Given the description of an element on the screen output the (x, y) to click on. 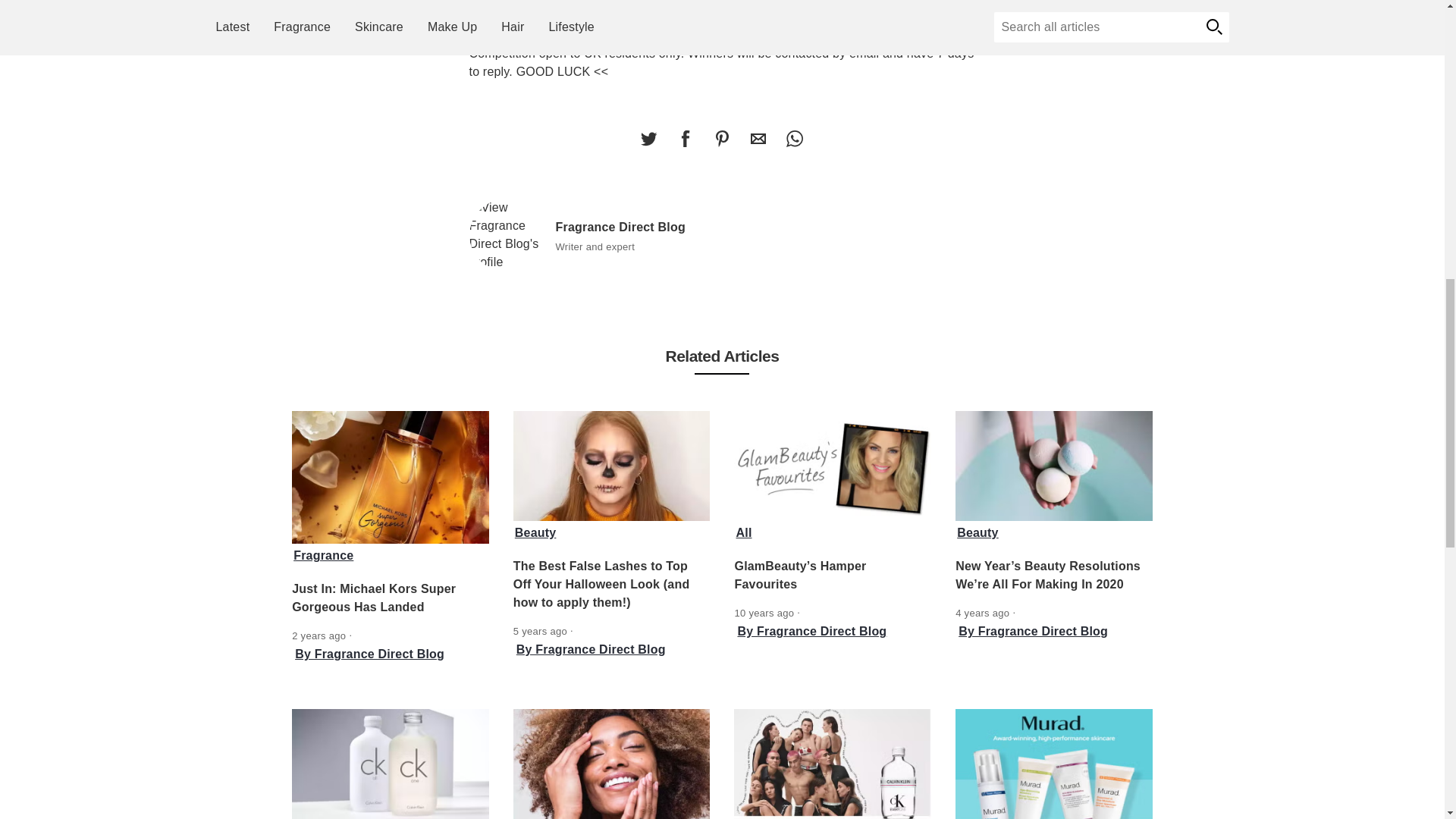
Share this on Twitter (648, 138)
Share this on Facebook (684, 138)
Share this on Pinterest (721, 138)
Share this on WhatsApp (793, 138)
Fragrance Direct Blog (505, 235)
Share this by Email (757, 138)
